Given the description of an element on the screen output the (x, y) to click on. 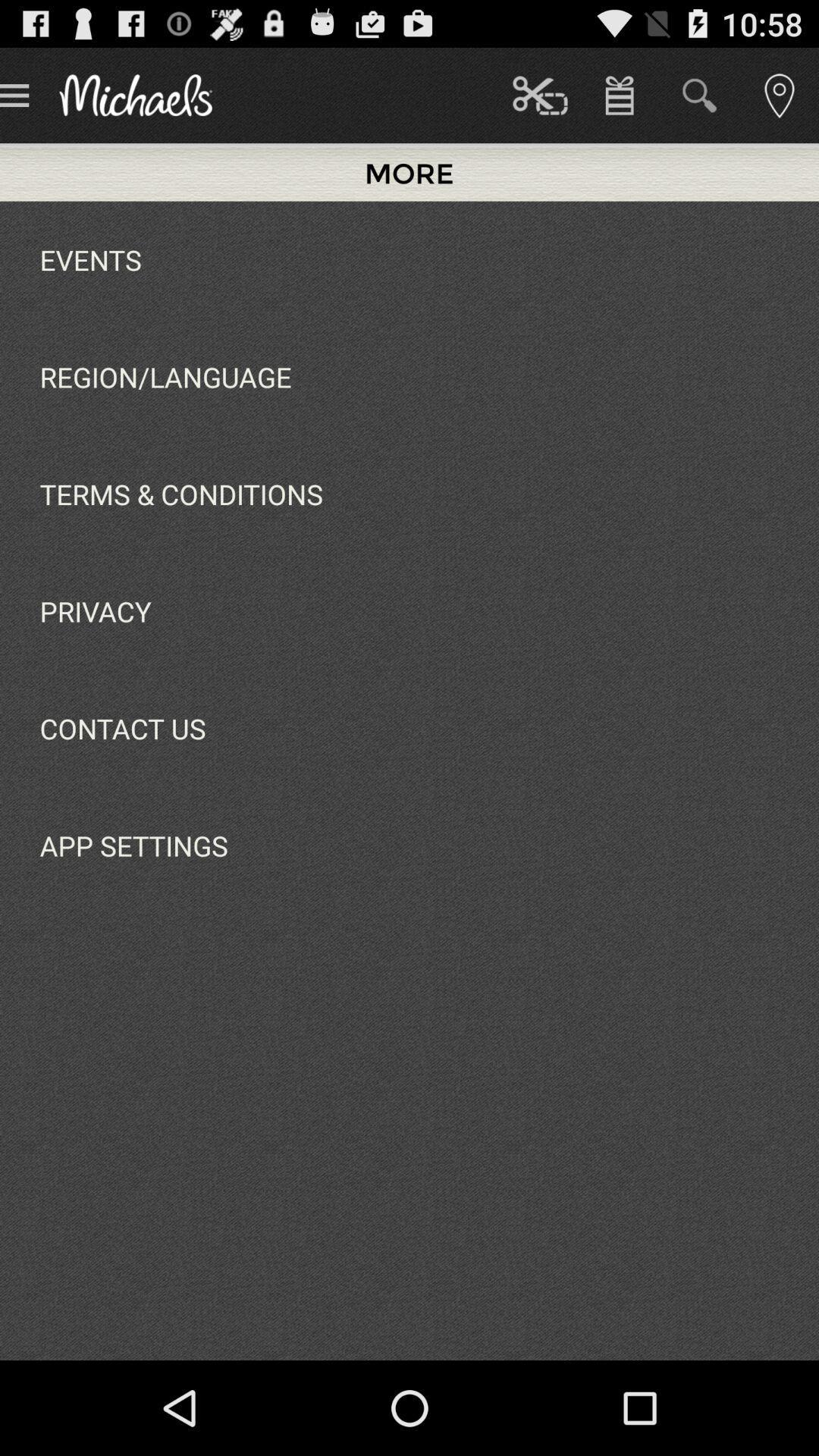
select icon above app settings icon (122, 728)
